Given the description of an element on the screen output the (x, y) to click on. 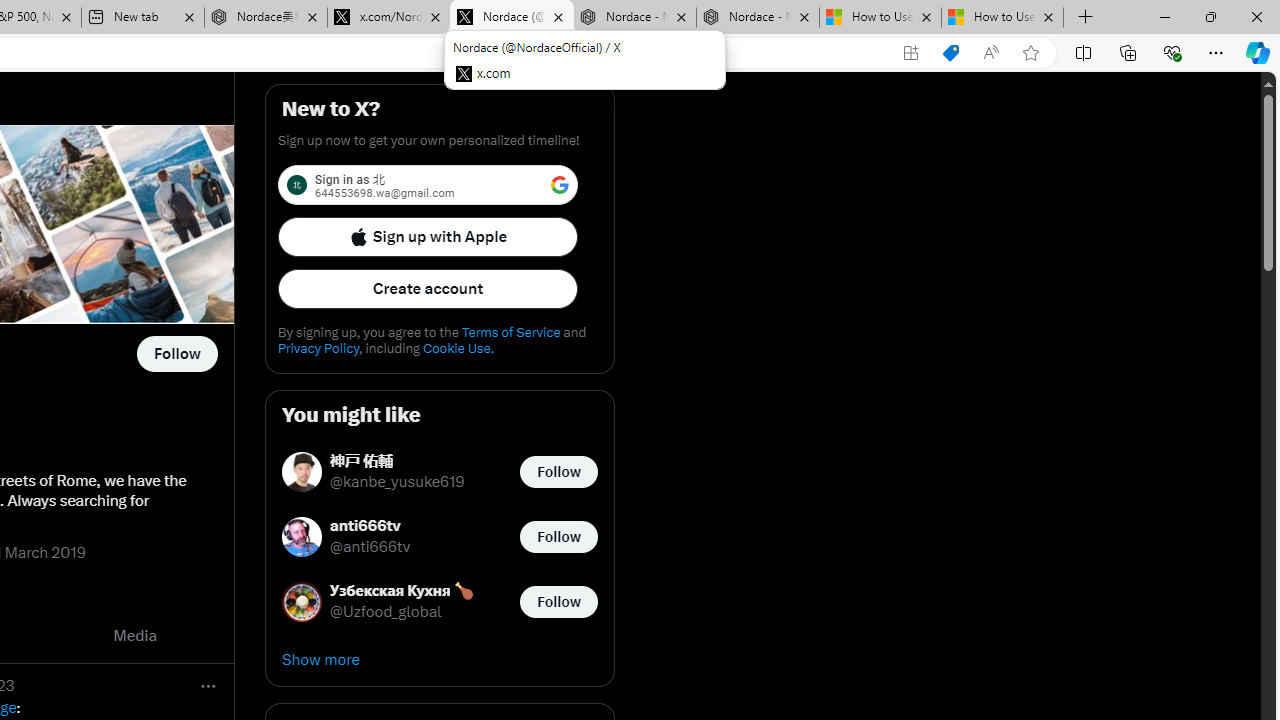
Privacy Policy (317, 348)
App available. Install X (910, 53)
Follow @NordaceOfficial (176, 354)
@anti666tv (370, 547)
Sign up with Apple (427, 236)
Class: LgbsSe-Bz112c (559, 184)
